Given the description of an element on the screen output the (x, y) to click on. 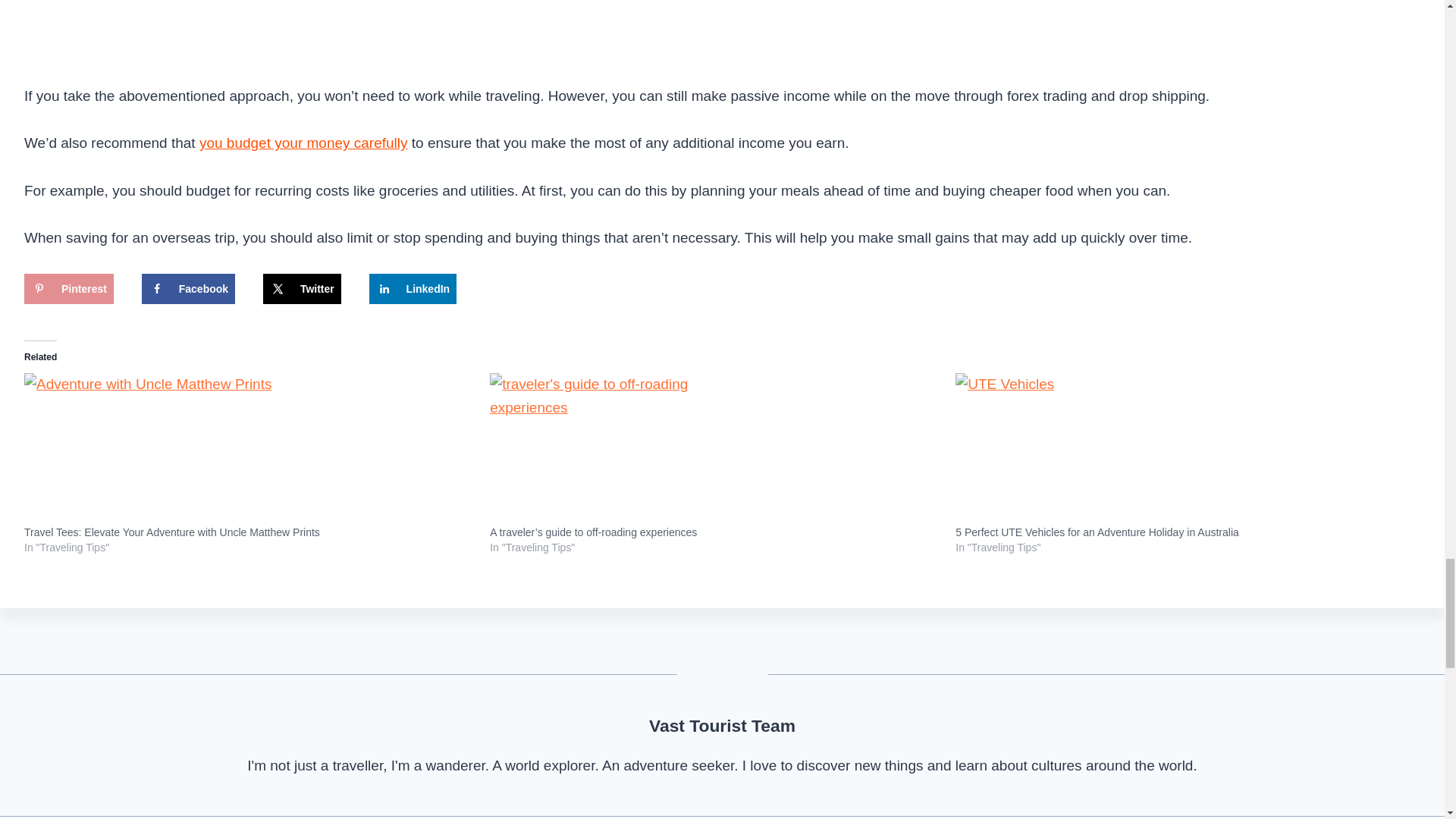
Facebook (187, 288)
you budget your money carefully (303, 142)
Share on Facebook (187, 288)
Save to Pinterest (68, 288)
LinkedIn (413, 288)
Share on X (301, 288)
Twitter (301, 288)
Share on LinkedIn (413, 288)
Pinterest (68, 288)
5 Perfect UTE Vehicles for an Adventure Holiday in Australia (1180, 448)
5 Perfect UTE Vehicles for an Adventure Holiday in Australia (1097, 532)
